Given the description of an element on the screen output the (x, y) to click on. 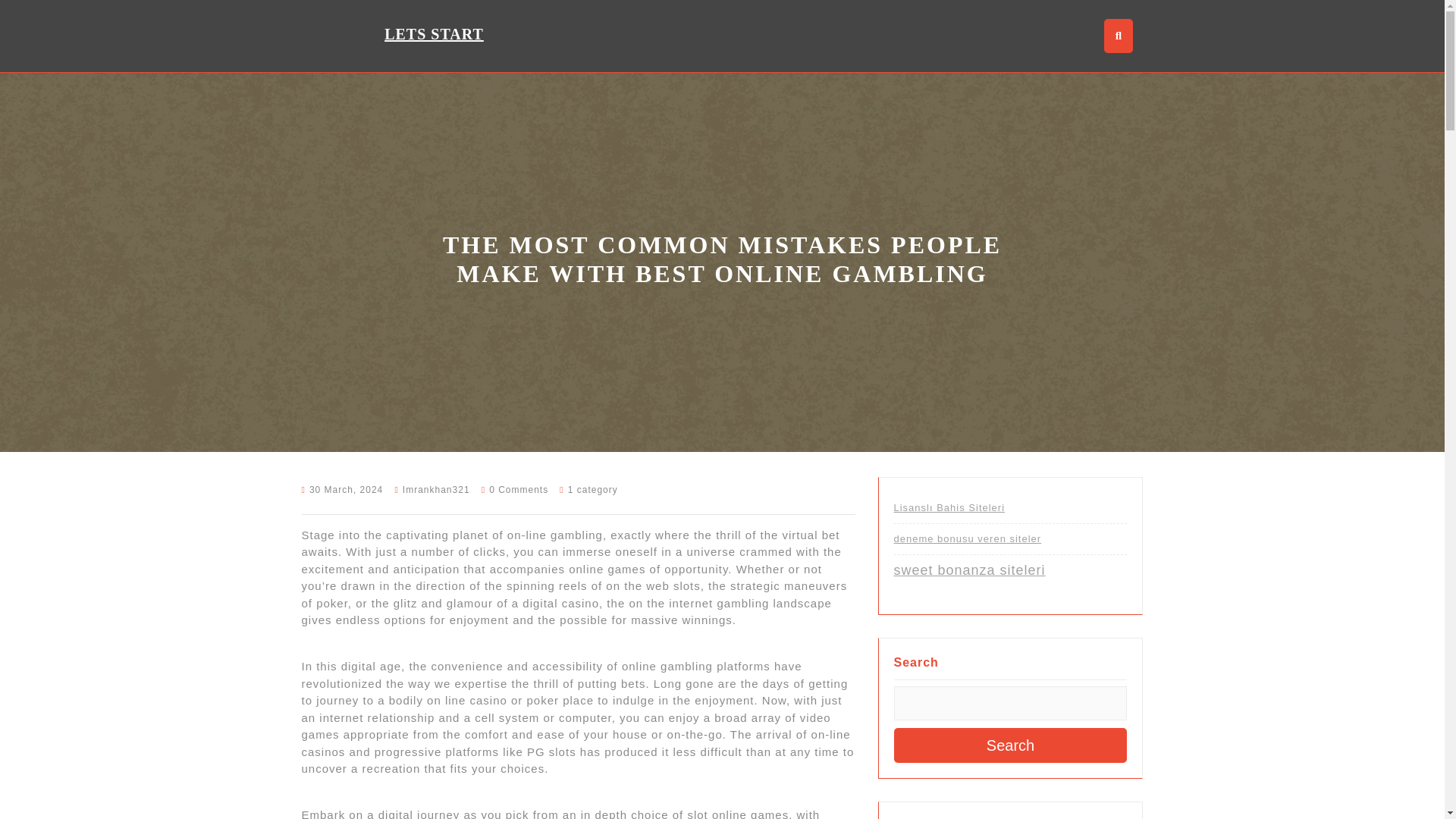
Search (1009, 745)
LETS START (433, 33)
deneme bonusu veren siteler (967, 538)
sweet bonanza siteleri (969, 570)
